Given the description of an element on the screen output the (x, y) to click on. 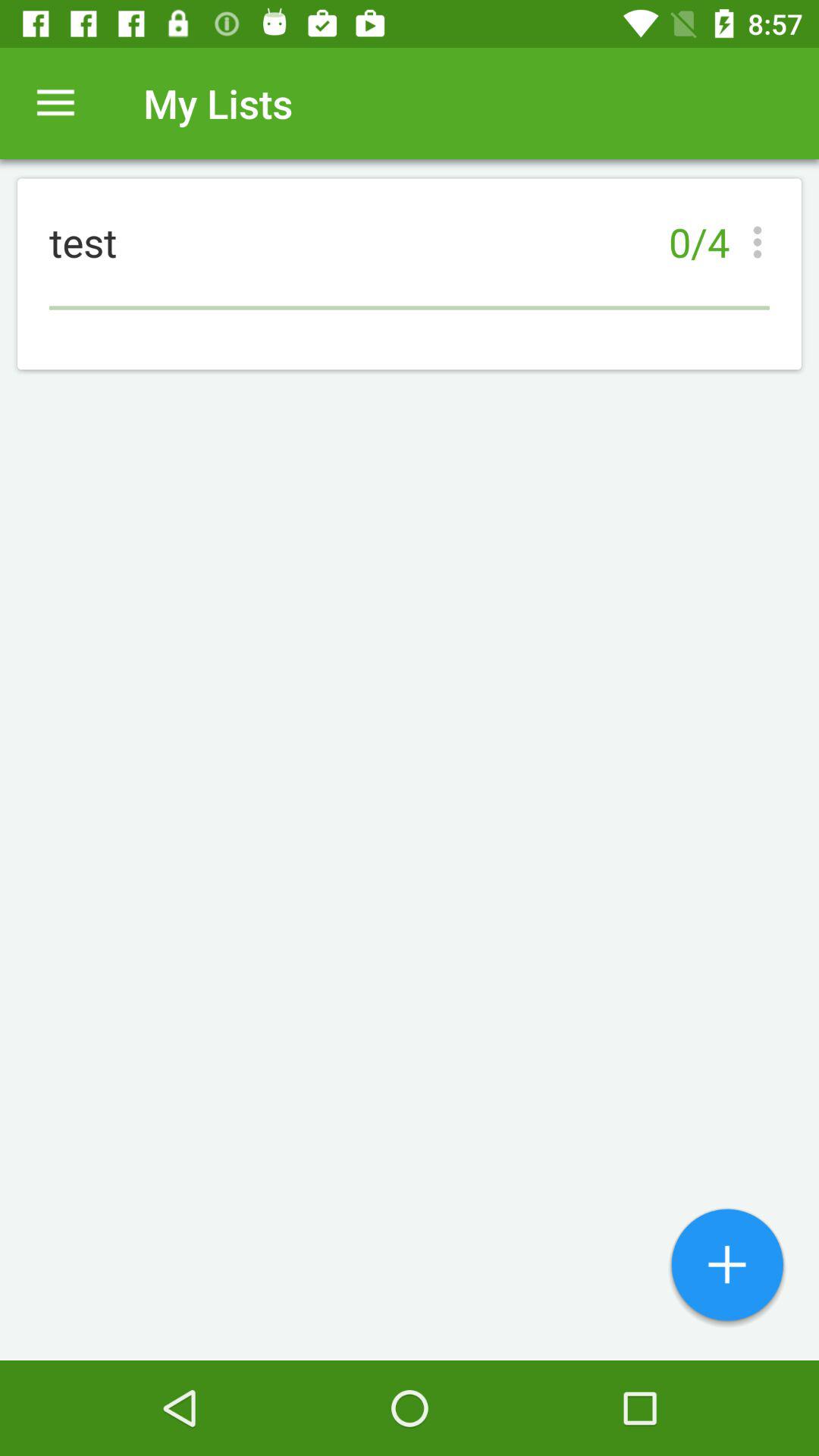
select the item to the right of test item (761, 242)
